Given the description of an element on the screen output the (x, y) to click on. 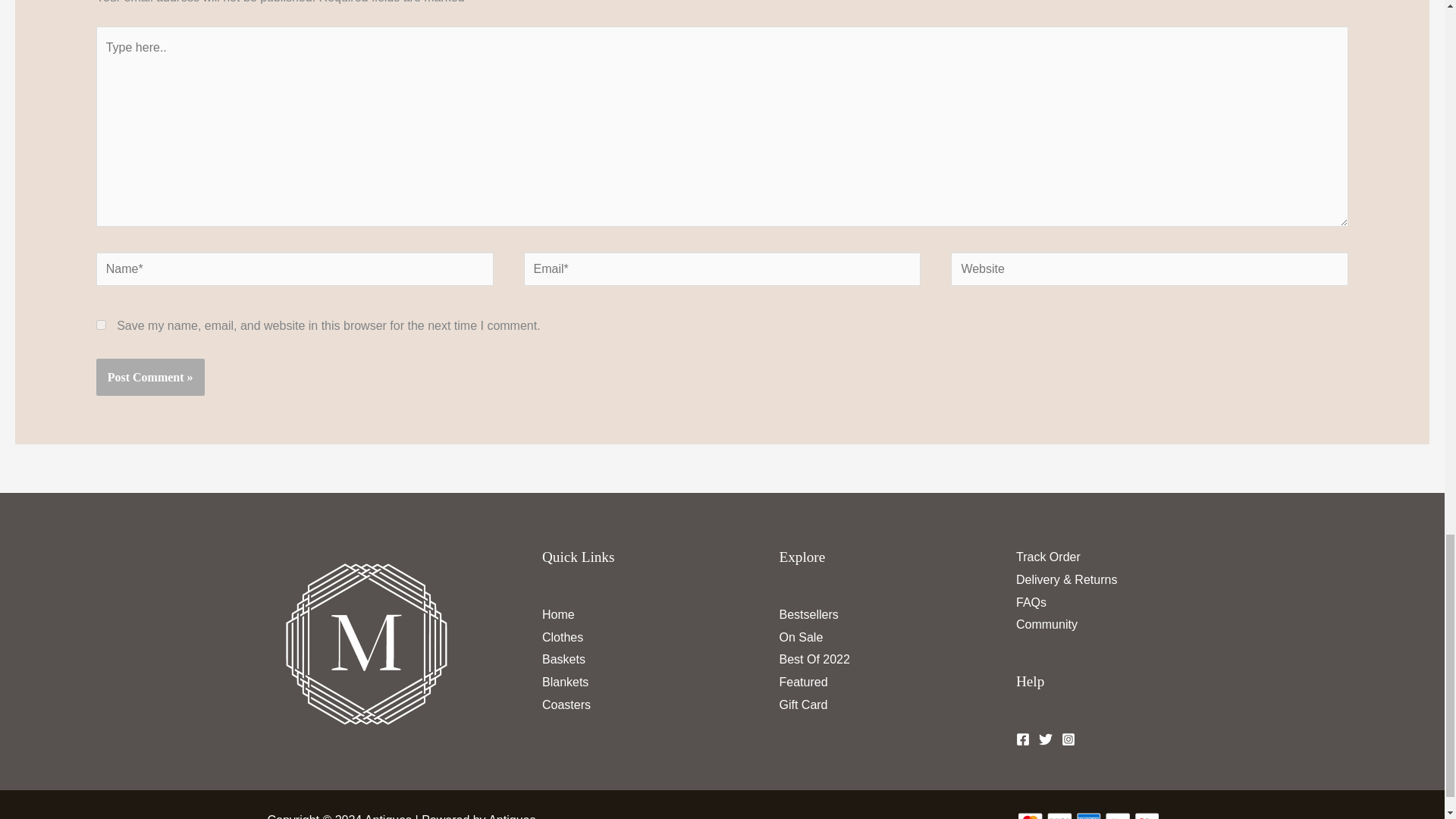
yes (101, 325)
